Given the description of an element on the screen output the (x, y) to click on. 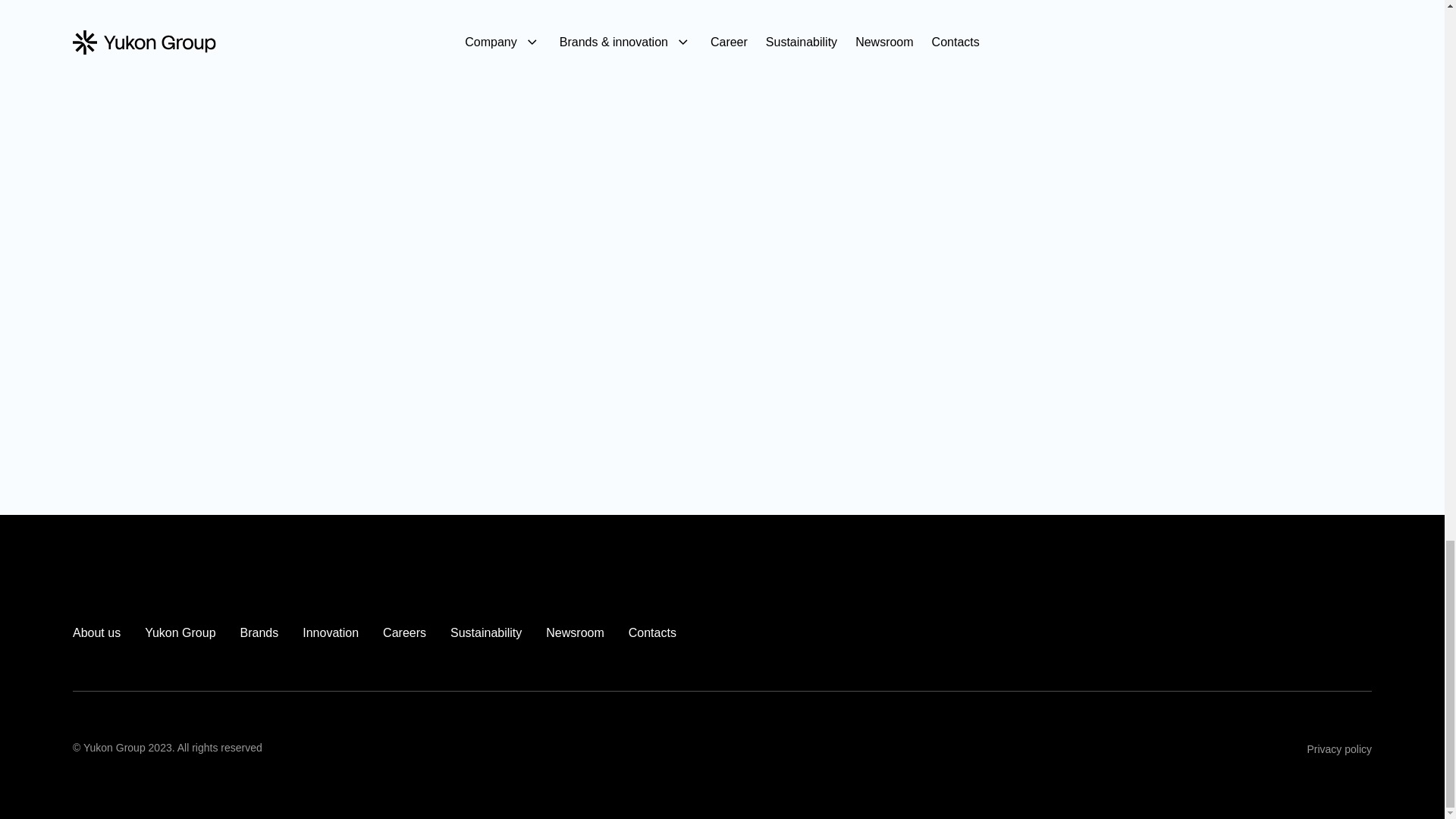
Contacts (652, 632)
Newsroom (575, 632)
About us (96, 632)
Yukon Group (179, 632)
Careers (404, 632)
Privacy policy (1338, 748)
Sustainability (485, 632)
Brands (259, 632)
Innovation (330, 632)
